Given the description of an element on the screen output the (x, y) to click on. 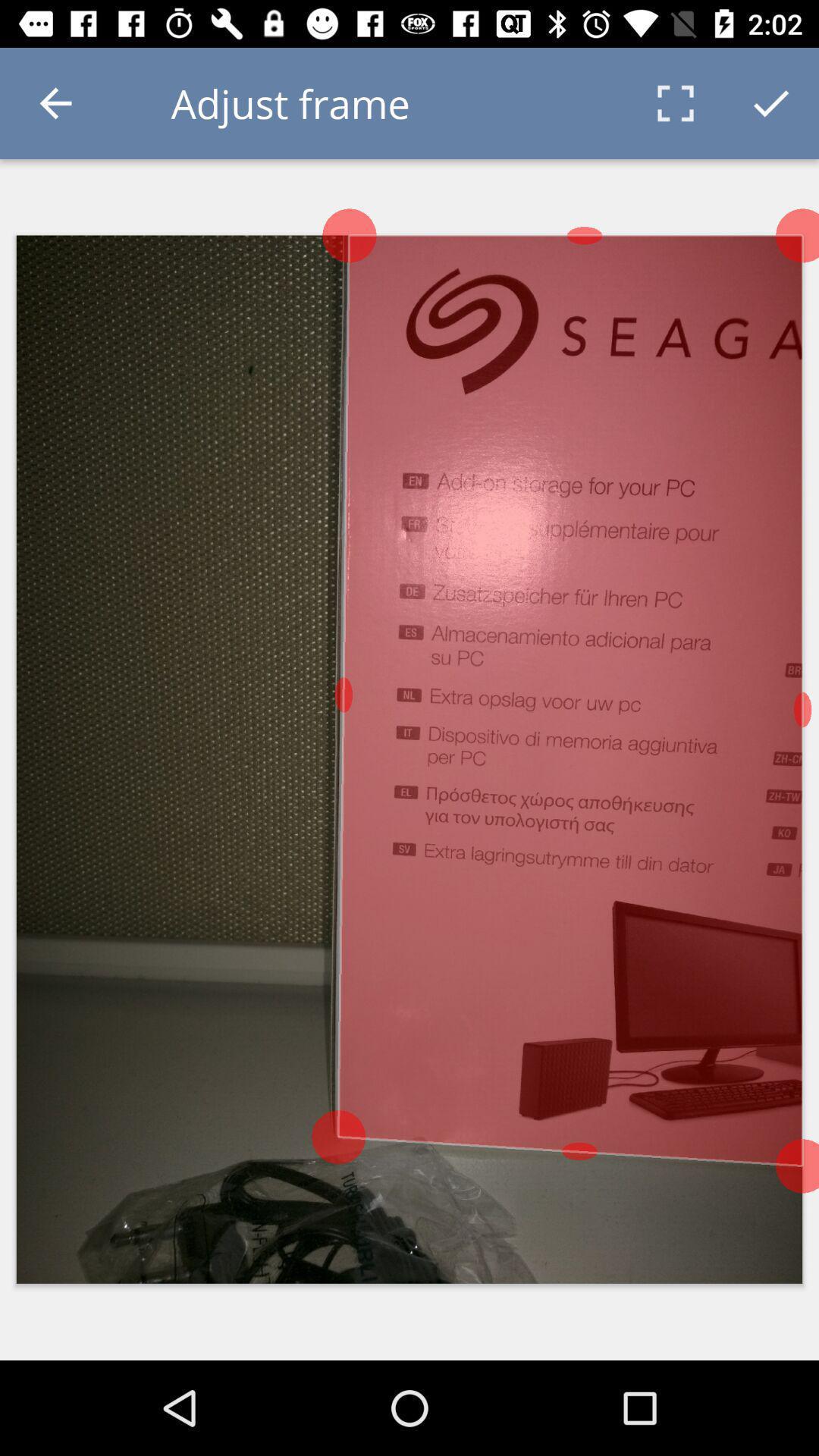
press the icon to the left of the adjust frame (55, 103)
